Given the description of an element on the screen output the (x, y) to click on. 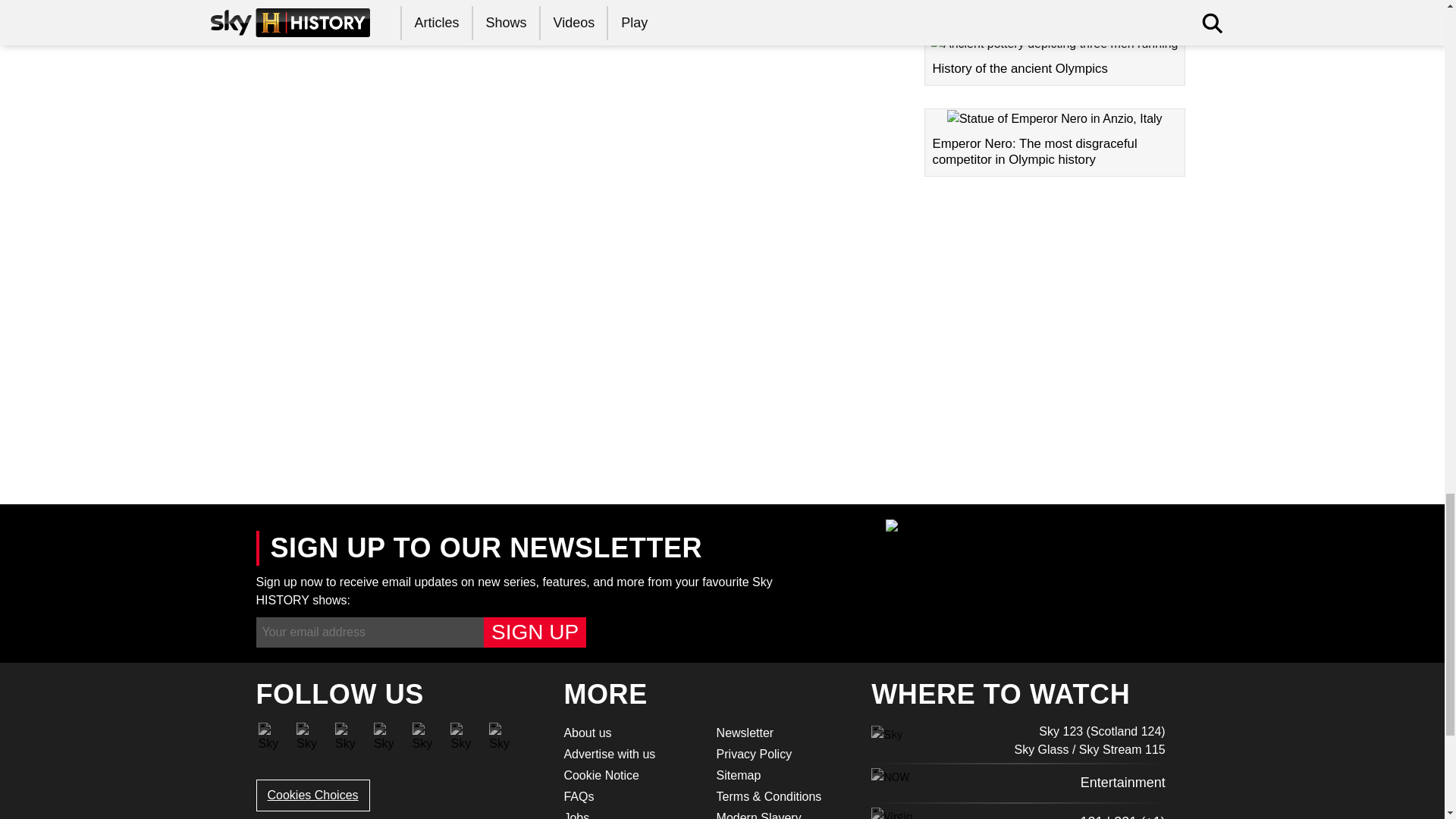
Cookies Choices (312, 795)
HISTORY Newsletter (783, 732)
Privacy Policy (783, 753)
Sitemap (783, 774)
Modern Slavery (783, 813)
Cookie Notice (630, 774)
Advertise with us (630, 753)
History of the modern Olympics (1054, 5)
Jobs (630, 813)
Newsletter (783, 732)
Sitemap of the site (783, 774)
About us (630, 732)
Sign Up (534, 632)
Share (297, 441)
